Given the description of an element on the screen output the (x, y) to click on. 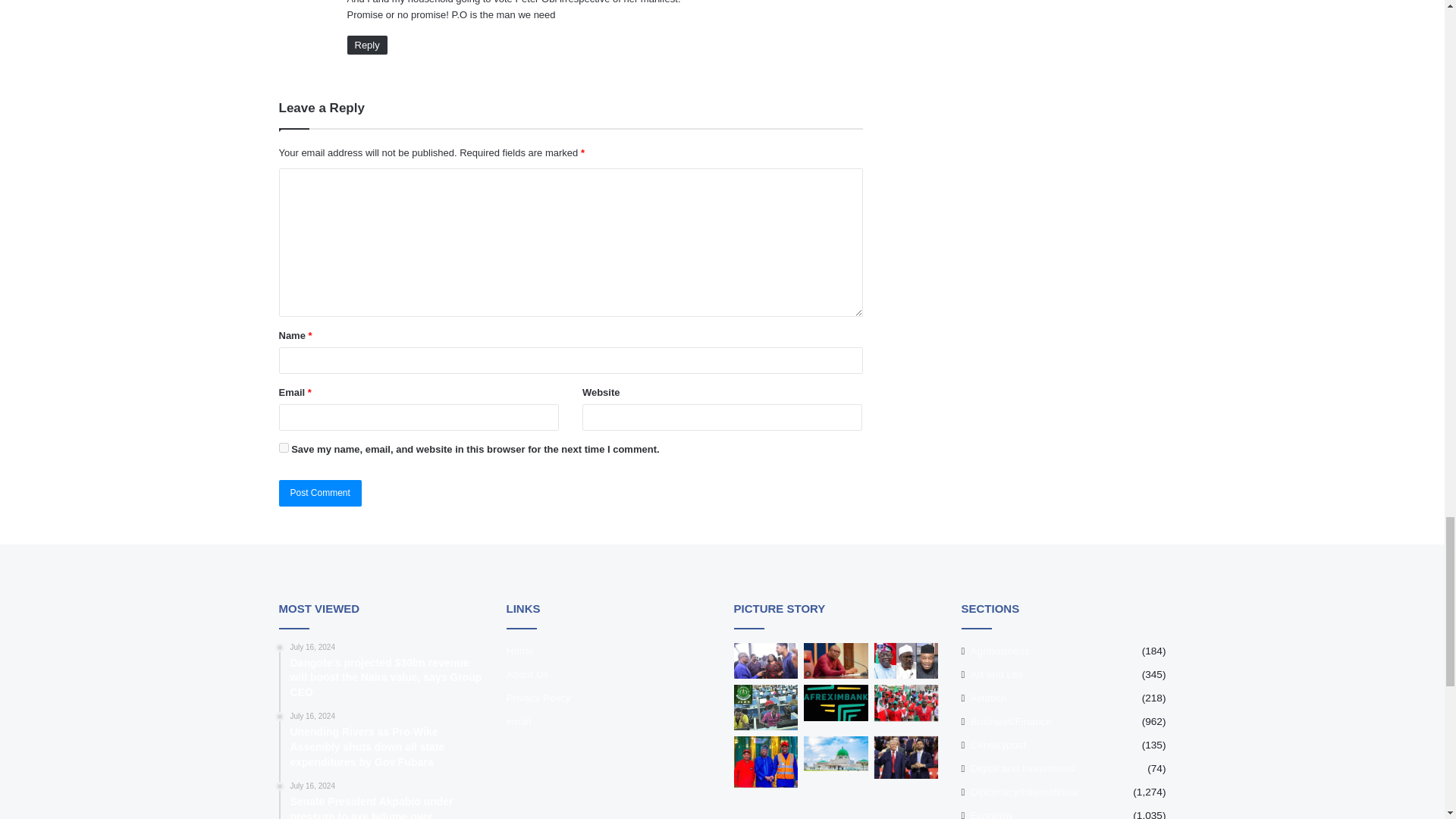
Post Comment (320, 492)
yes (283, 447)
